Given the description of an element on the screen output the (x, y) to click on. 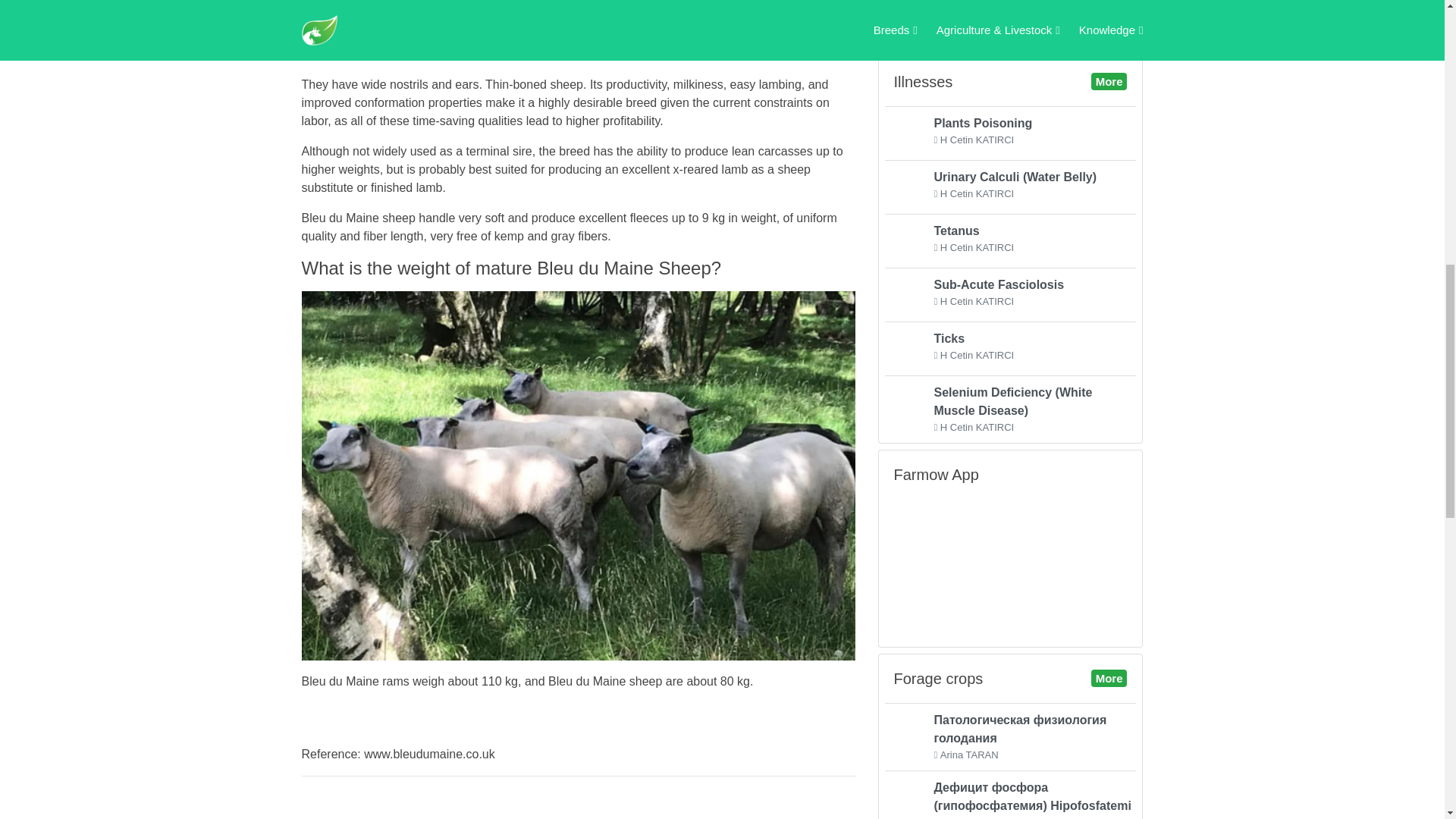
Advertisement (1009, 292)
More (1009, 17)
More (1009, 238)
